Given the description of an element on the screen output the (x, y) to click on. 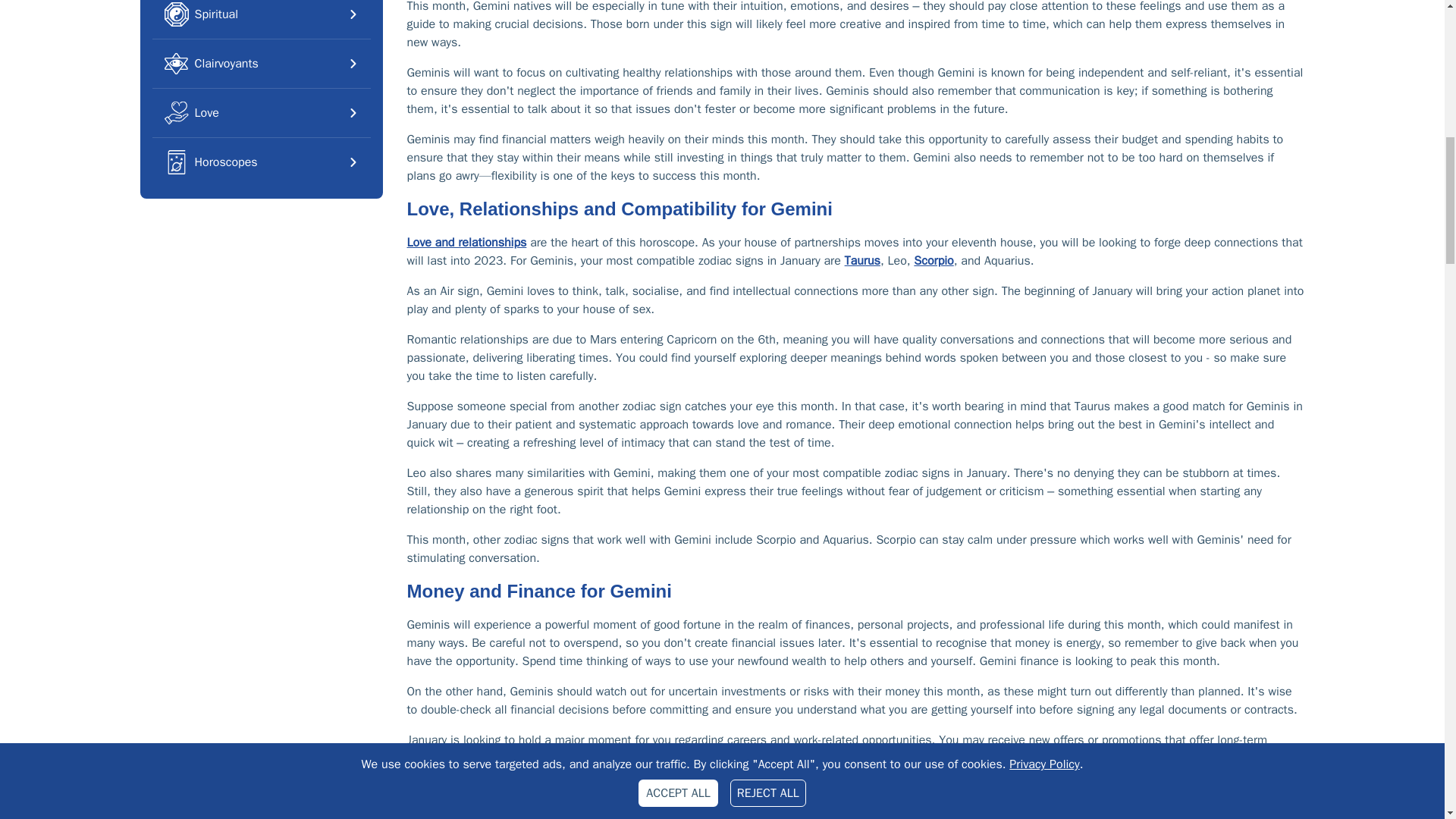
Scorpio (933, 260)
Clairvoyants (260, 63)
Spiritual (260, 19)
Love (260, 112)
Horoscopes (260, 162)
Taurus (862, 260)
Love and relationships (465, 242)
